Given the description of an element on the screen output the (x, y) to click on. 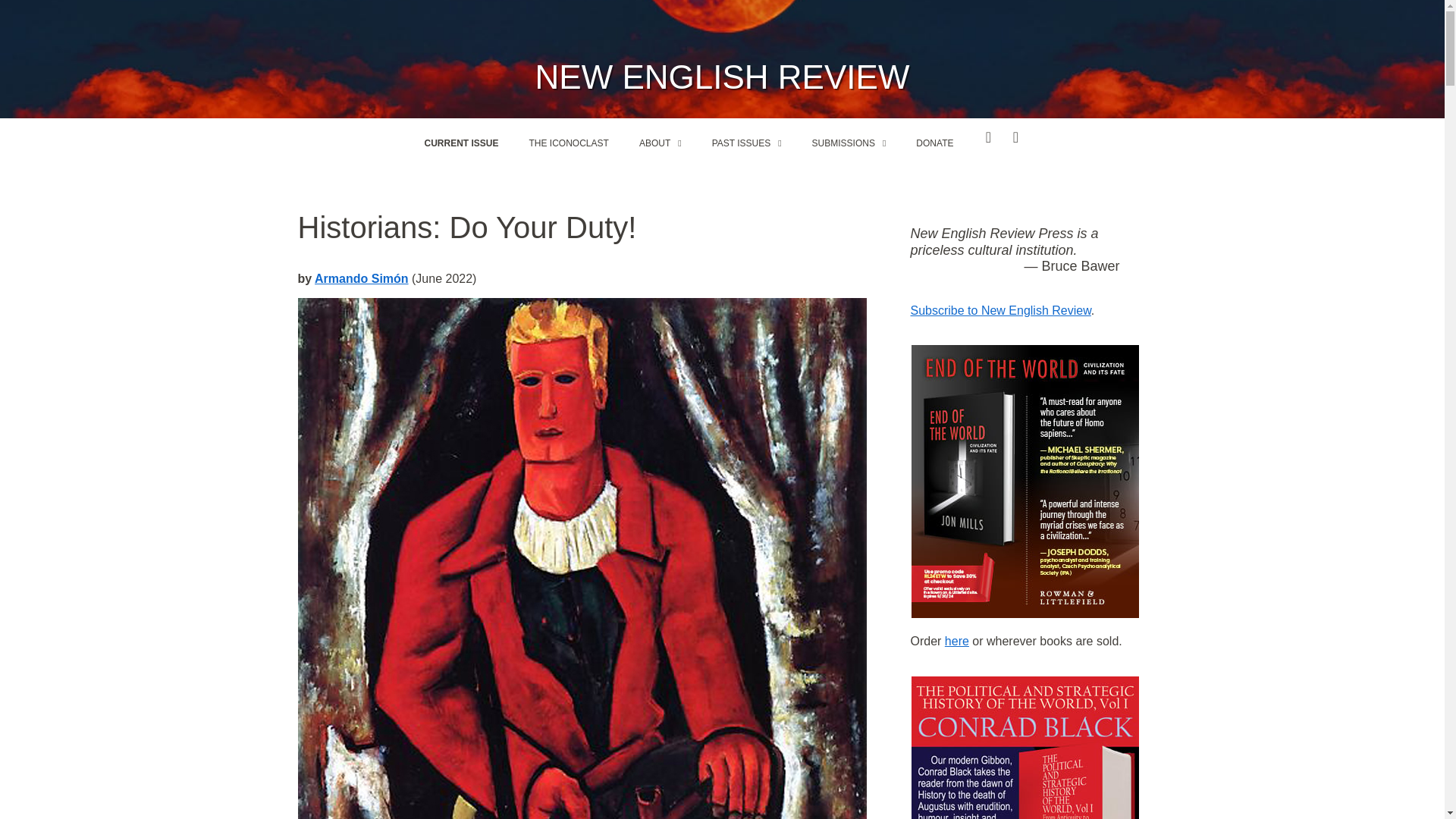
PAST ISSUES (746, 143)
DONATE (934, 143)
CURRENT ISSUE (461, 143)
SUBMISSIONS (848, 143)
THE ICONOCLAST (568, 143)
ABOUT (660, 143)
NEW ENGLISH REVIEW (722, 76)
